Given the description of an element on the screen output the (x, y) to click on. 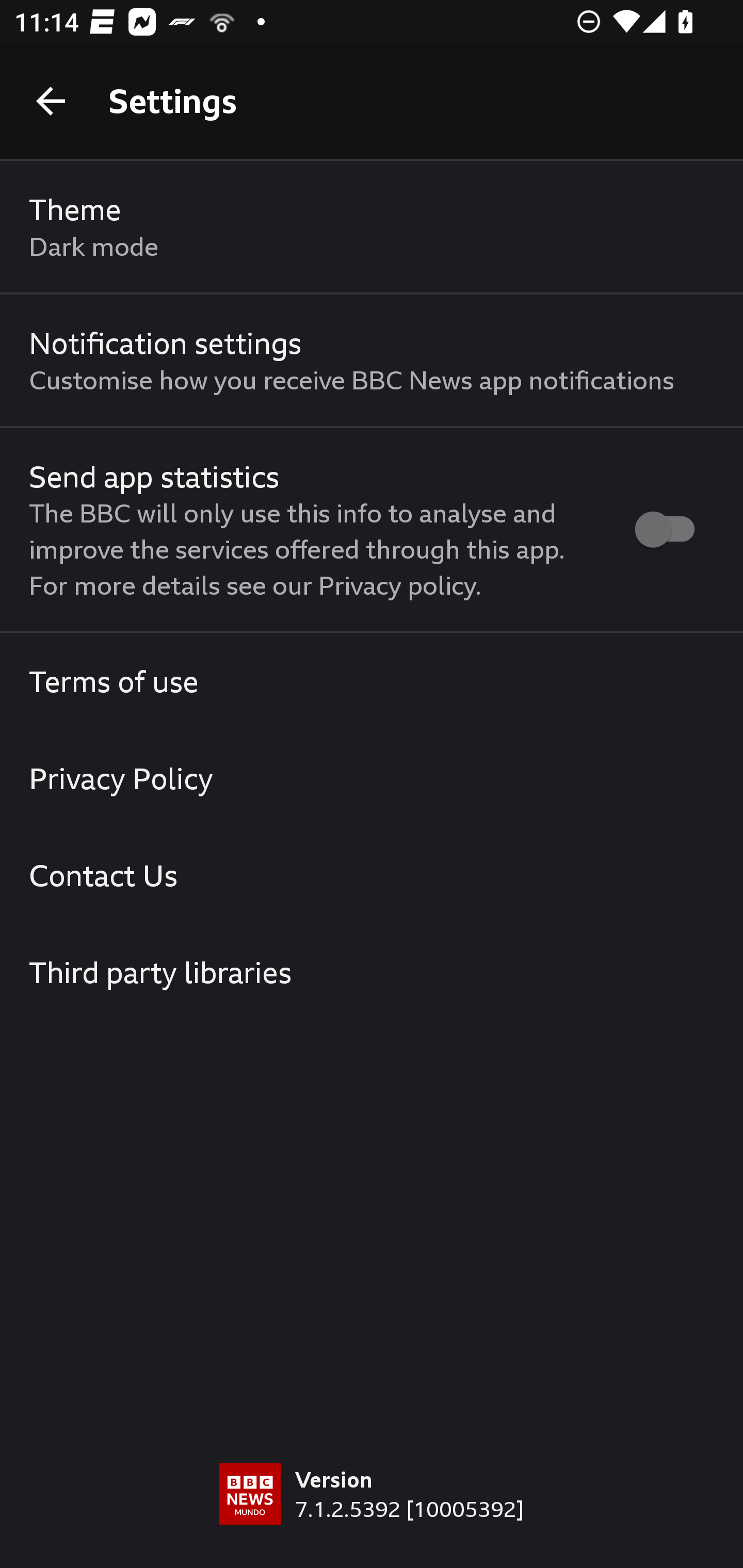
Back (50, 101)
Theme Dark mode (371, 227)
Terms of use (371, 681)
Privacy Policy (371, 777)
Contact Us (371, 874)
Third party libraries (371, 971)
Version 7.1.2.5392 [10005392] (371, 1515)
